Given the description of an element on the screen output the (x, y) to click on. 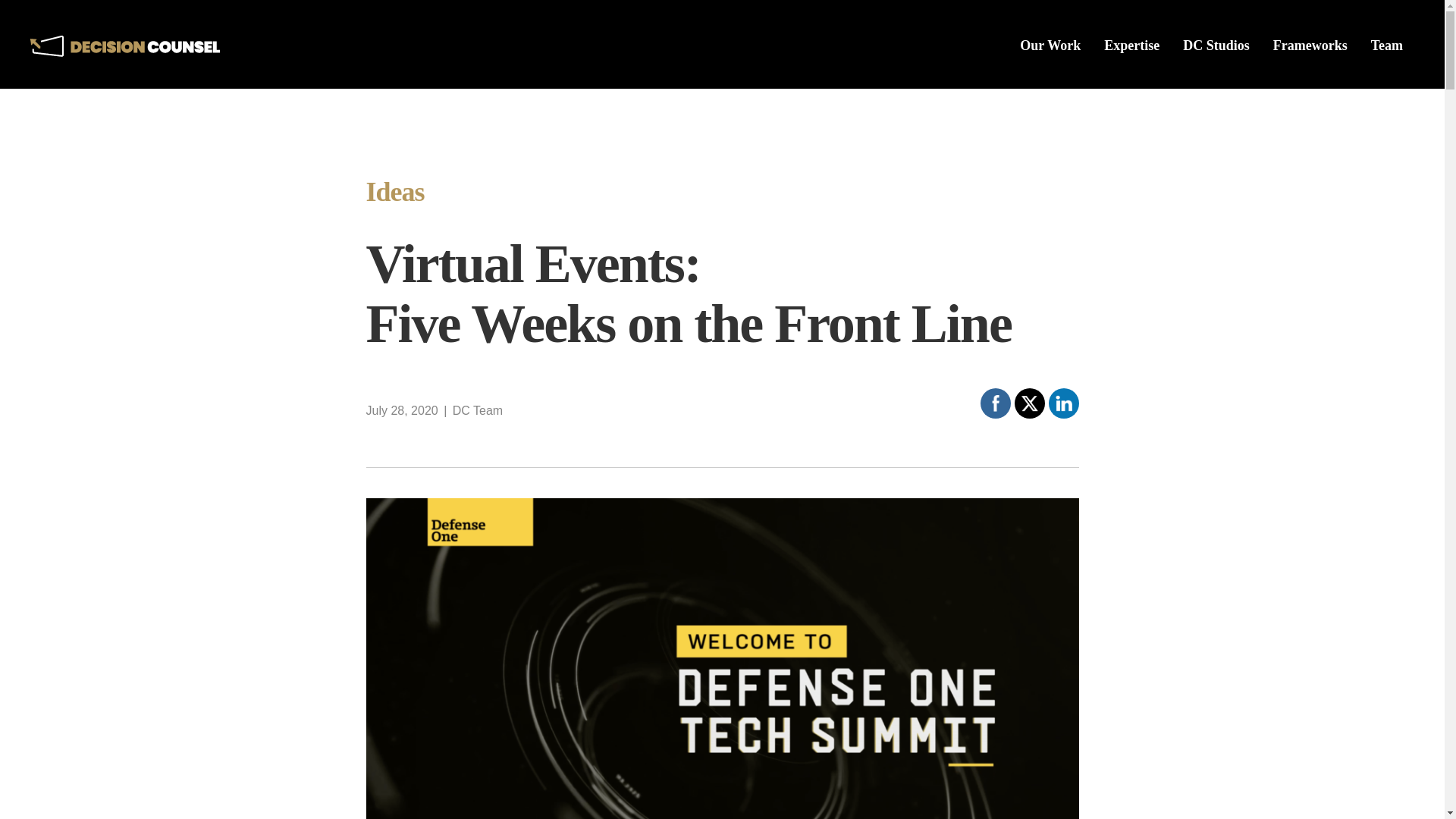
Ideas (394, 191)
Expertise (1131, 78)
DC Team (477, 410)
Frameworks (1310, 73)
LinkedIn (1063, 402)
Ideas (394, 191)
Our Work (1050, 81)
Twitter (1030, 403)
Team (1386, 72)
DC Studios (1216, 76)
Facebook (995, 402)
